Given the description of an element on the screen output the (x, y) to click on. 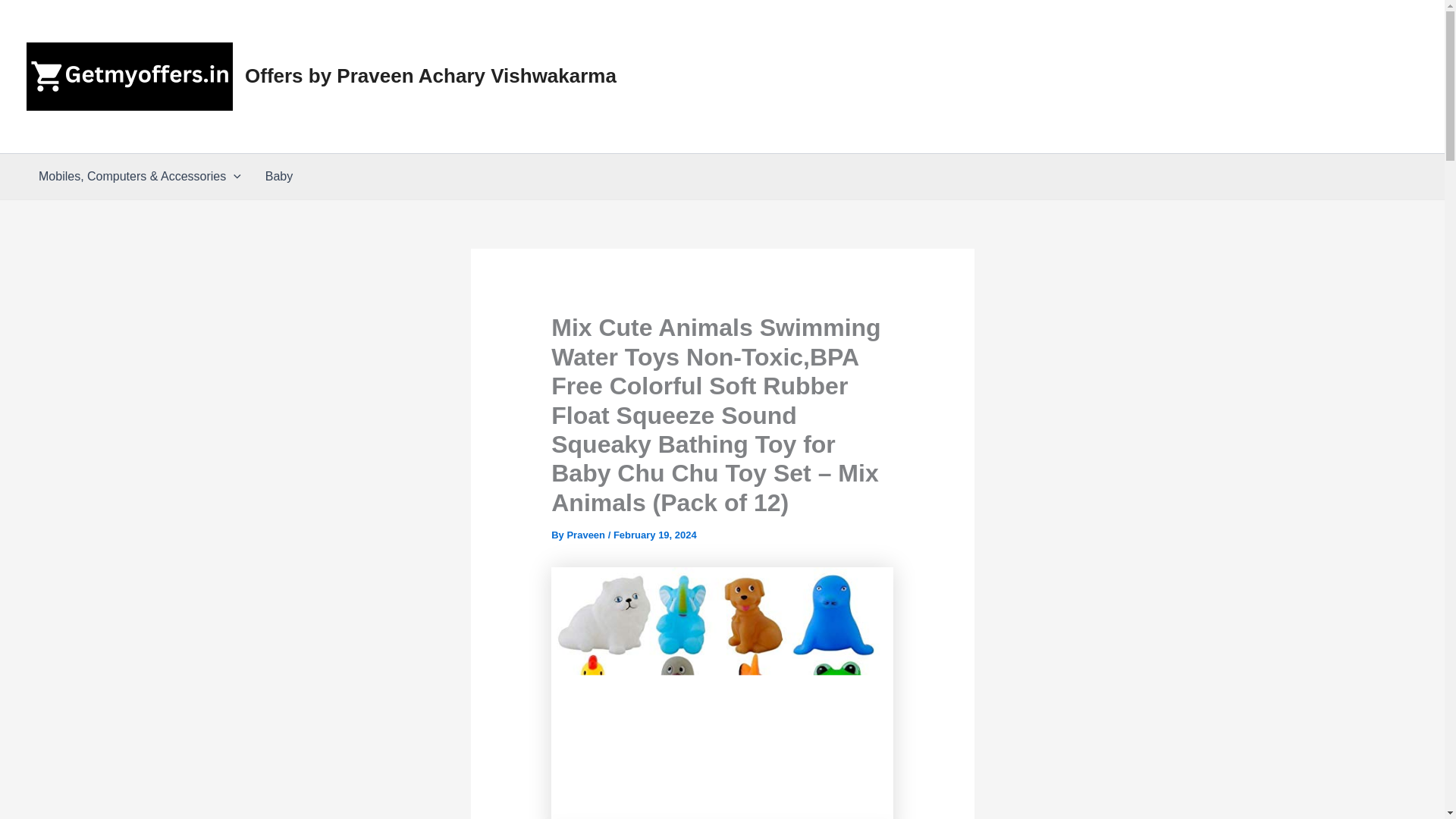
Above 20000 (1069, 114)
Under 200-300 (869, 38)
Under 10000-15000 (822, 114)
Under 5000-10000 (694, 114)
Under 300-400 (975, 38)
Baby (278, 176)
Under 1000-5000 (1304, 38)
Under 15000-20000 (955, 114)
View all posts by Praveen (586, 534)
Offers by Praveen Achary Vishwakarma (429, 75)
Under 500-1000 (1190, 38)
Under 100-200 (765, 38)
Under 400-500 (1080, 38)
Below 100 (672, 38)
